Given the description of an element on the screen output the (x, y) to click on. 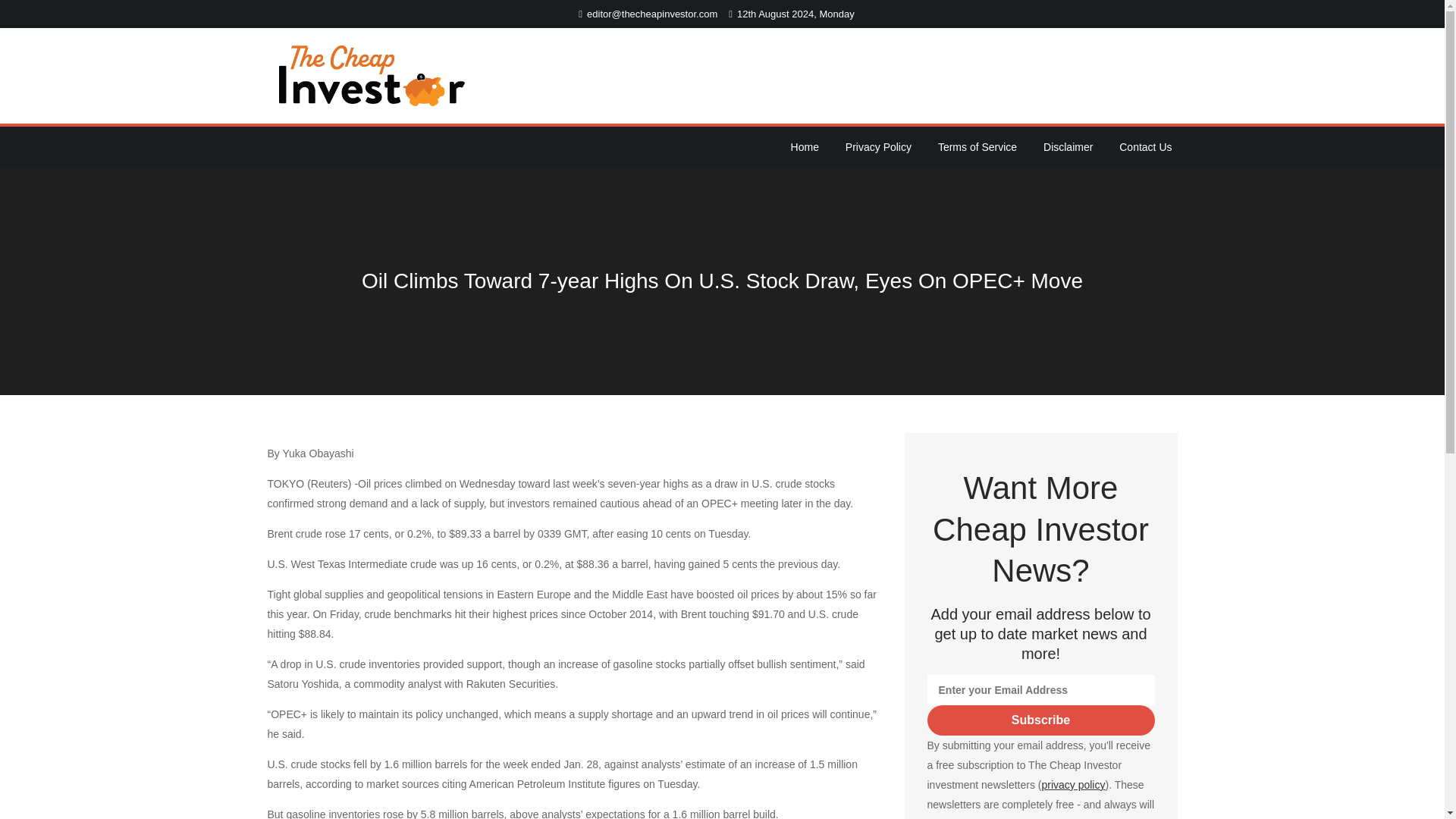
The Cheap Investor (561, 86)
Terms of Service (977, 146)
privacy policy (1073, 784)
Disclaimer (1067, 146)
Contact Us (1145, 146)
Subscribe (1040, 720)
Home (804, 146)
Subscribe (1040, 720)
Privacy Policy (877, 146)
